Given the description of an element on the screen output the (x, y) to click on. 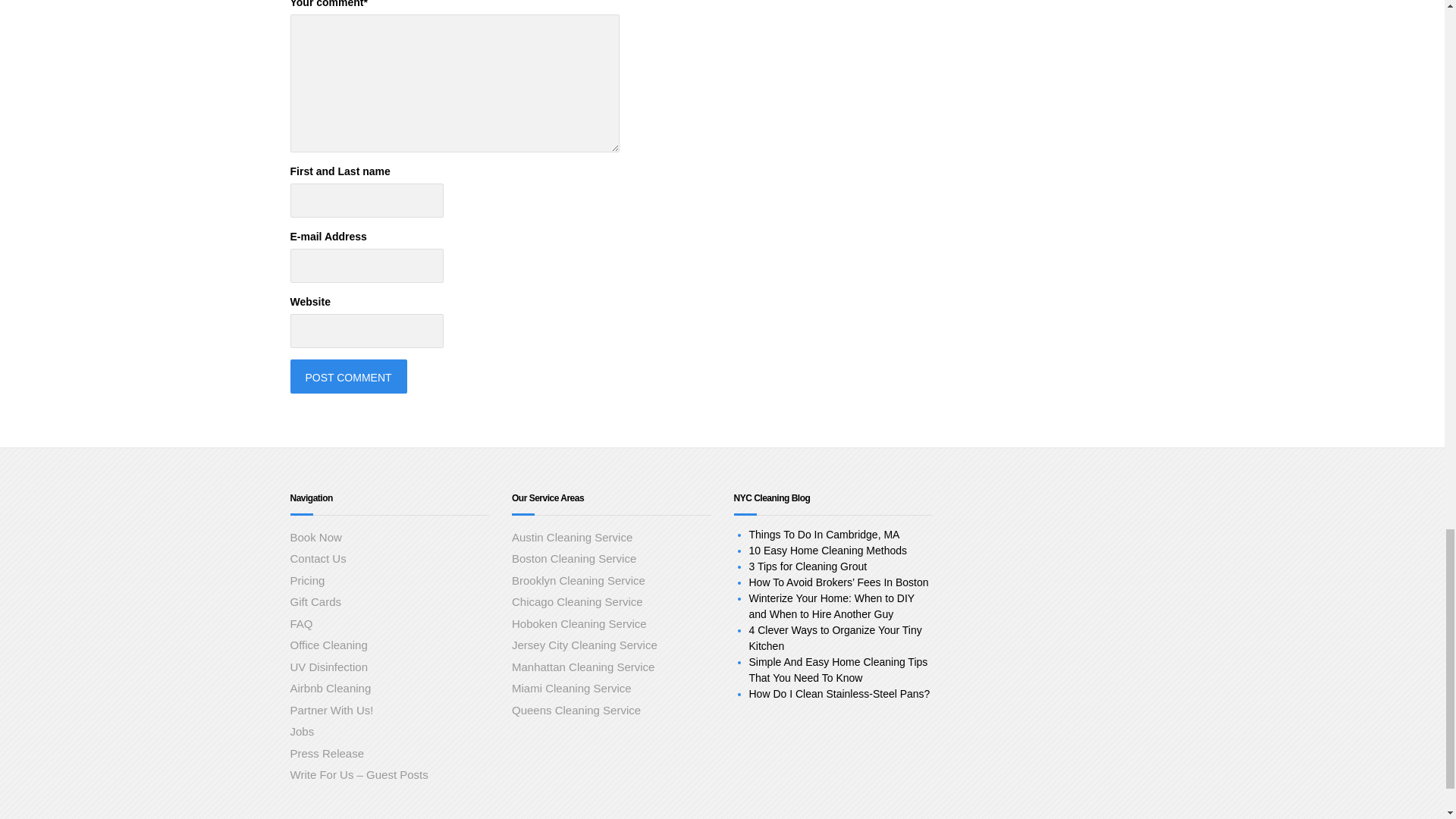
Post Comment (347, 376)
Post Comment (347, 376)
